Given the description of an element on the screen output the (x, y) to click on. 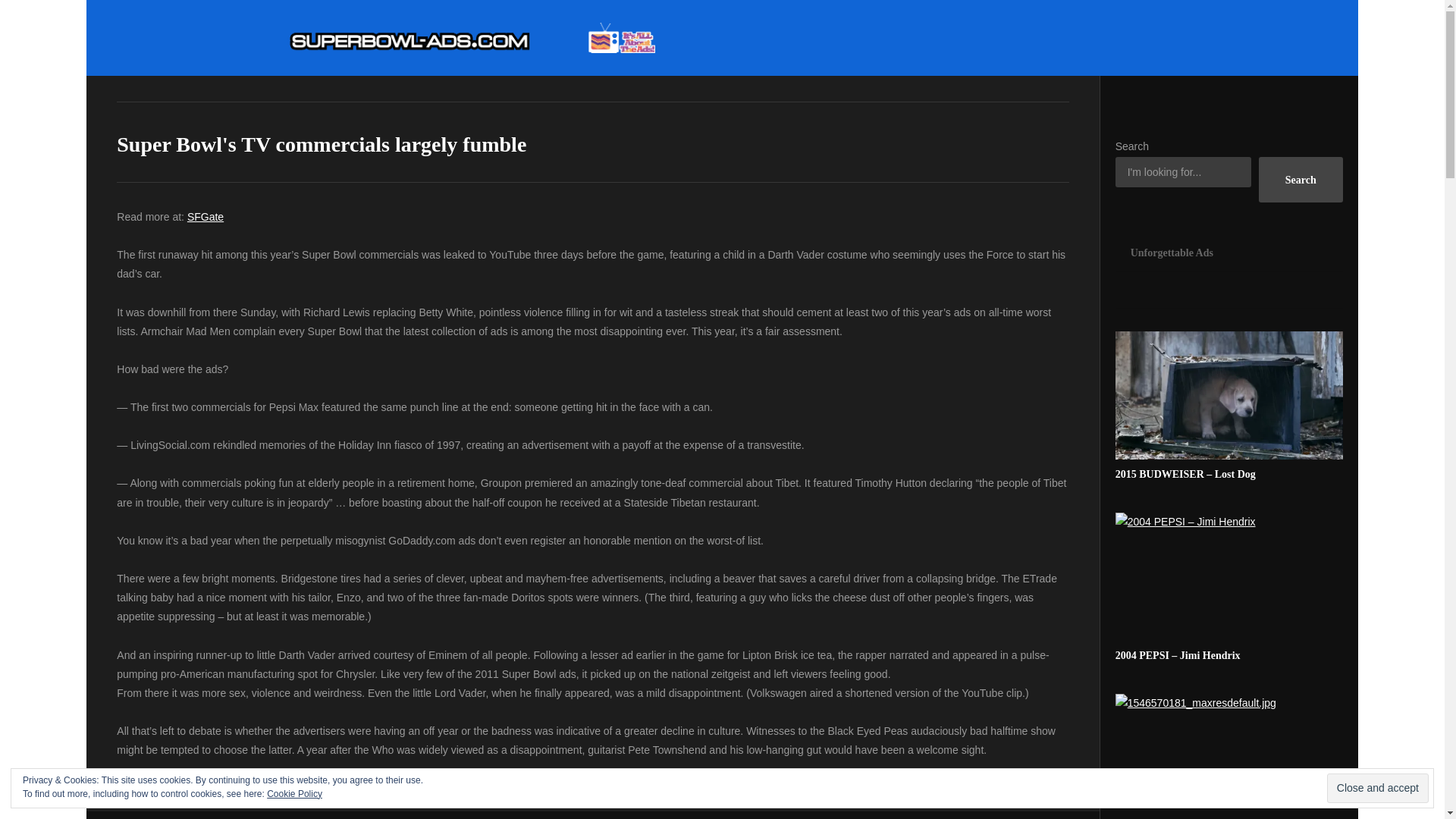
Search (1300, 179)
SFGate (205, 216)
Unforgettable Ads (1228, 252)
Close and accept (1377, 788)
Close and accept (1377, 788)
Cookie Policy (293, 793)
Superbowl-ads.com Video Archive 2024 (472, 37)
